Given the description of an element on the screen output the (x, y) to click on. 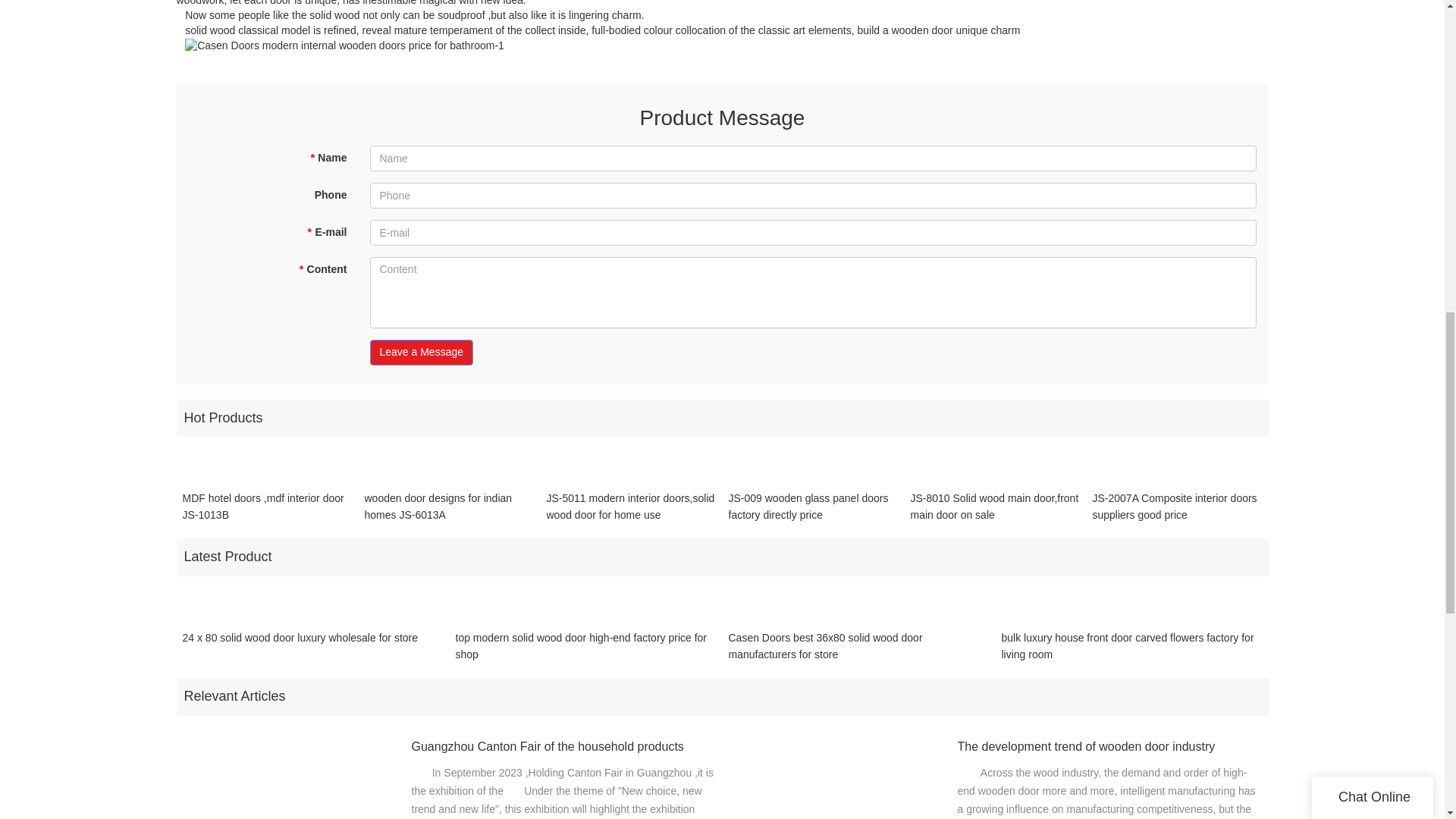
24 x 80 solid wood door luxury wholesale for store (299, 645)
Leave a Message (421, 352)
JS-8010 Solid wood main door,front main door on sale (995, 506)
Guangzhou Canton Fair of the  household products (562, 746)
wooden door designs for indian homes JS-6013A (449, 506)
top modern solid wood door high-end factory price for shop (585, 645)
MDF hotel doors ,mdf interior door JS-1013B (267, 506)
JS-2007A Composite interior doors suppliers good price (1177, 506)
The development trend of wooden door industry (1108, 746)
JS-009 wooden glass panel doors factory directly price (813, 506)
JS-5011  modern interior doors,solid wood door for home use (631, 506)
